Given the description of an element on the screen output the (x, y) to click on. 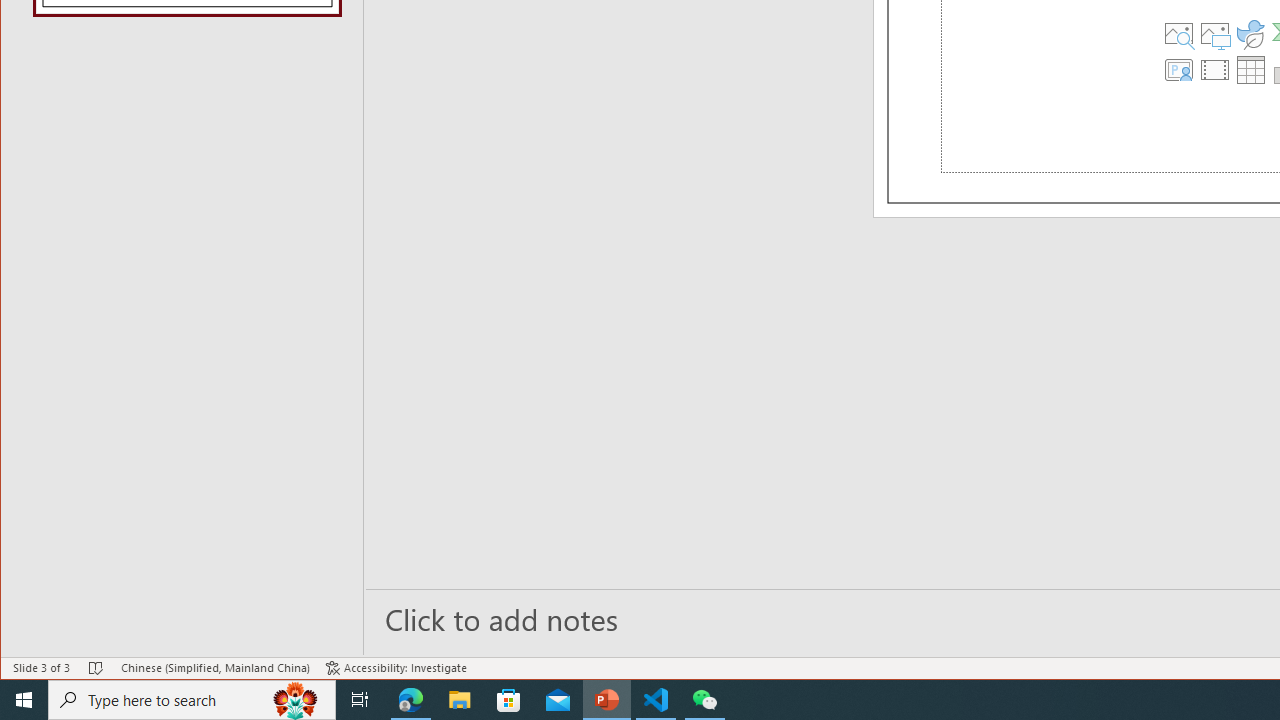
Insert Cameo (1179, 69)
